Given the description of an element on the screen output the (x, y) to click on. 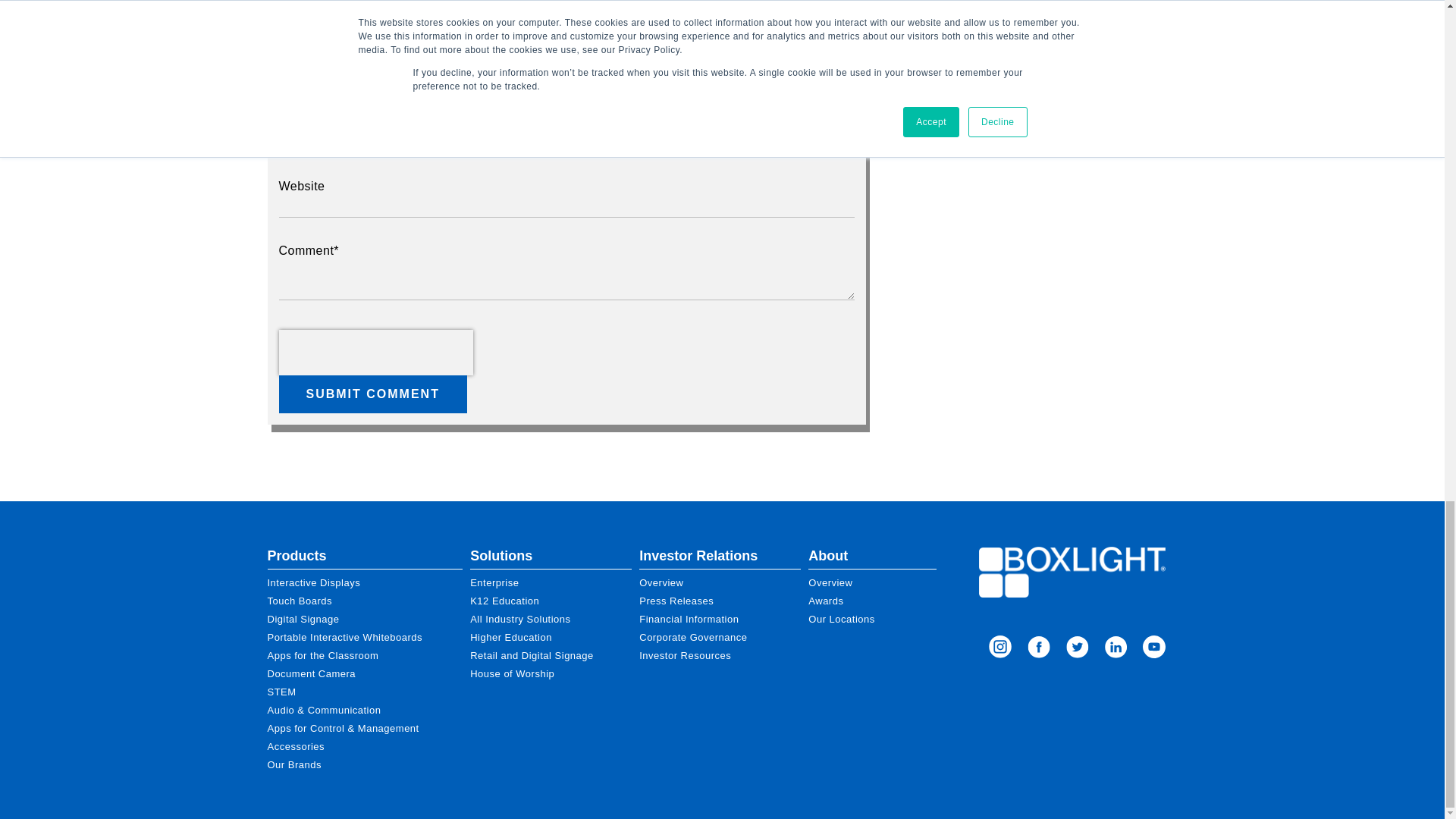
Boxlight (1072, 572)
Submit Comment (373, 394)
Twitter (1077, 648)
LinkedIn (1154, 648)
Submit Comment (373, 394)
LinkedIn (1115, 648)
Facebook (1038, 648)
reCAPTCHA (376, 352)
Instagram (999, 648)
